Given the description of an element on the screen output the (x, y) to click on. 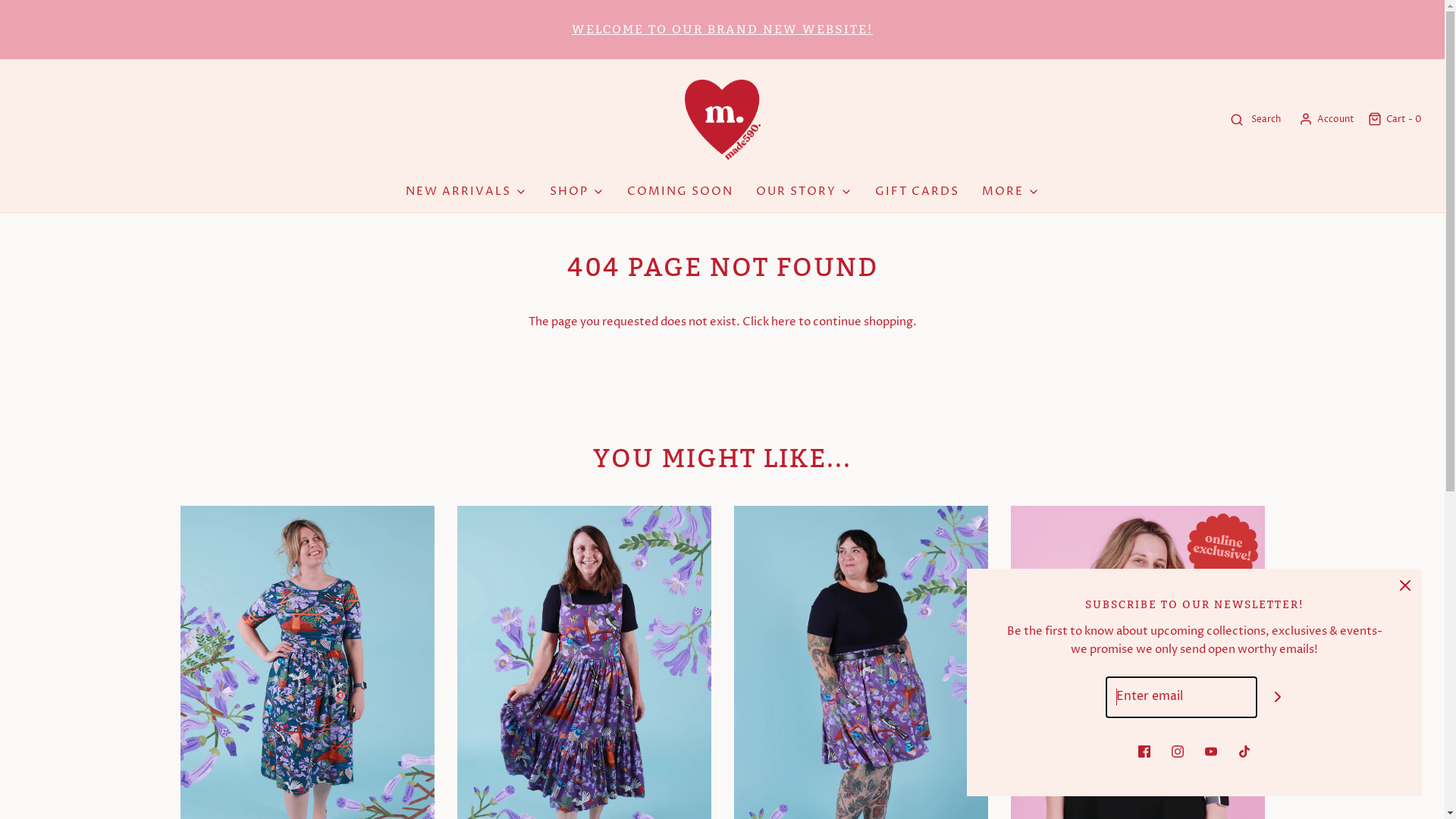
WELCOME TO OUR BRAND NEW WEBSITE! Element type: text (721, 28)
GIFT CARDS Element type: text (917, 191)
Search Element type: text (1253, 119)
MORE Element type: text (1009, 191)
Cart - 0 Element type: text (1393, 119)
here Element type: text (782, 321)
NEW ARRIVALS Element type: text (465, 191)
SHOP Element type: text (576, 191)
Account Element type: text (1325, 119)
COMING SOON Element type: text (679, 191)
OUR STORY Element type: text (803, 191)
